Given the description of an element on the screen output the (x, y) to click on. 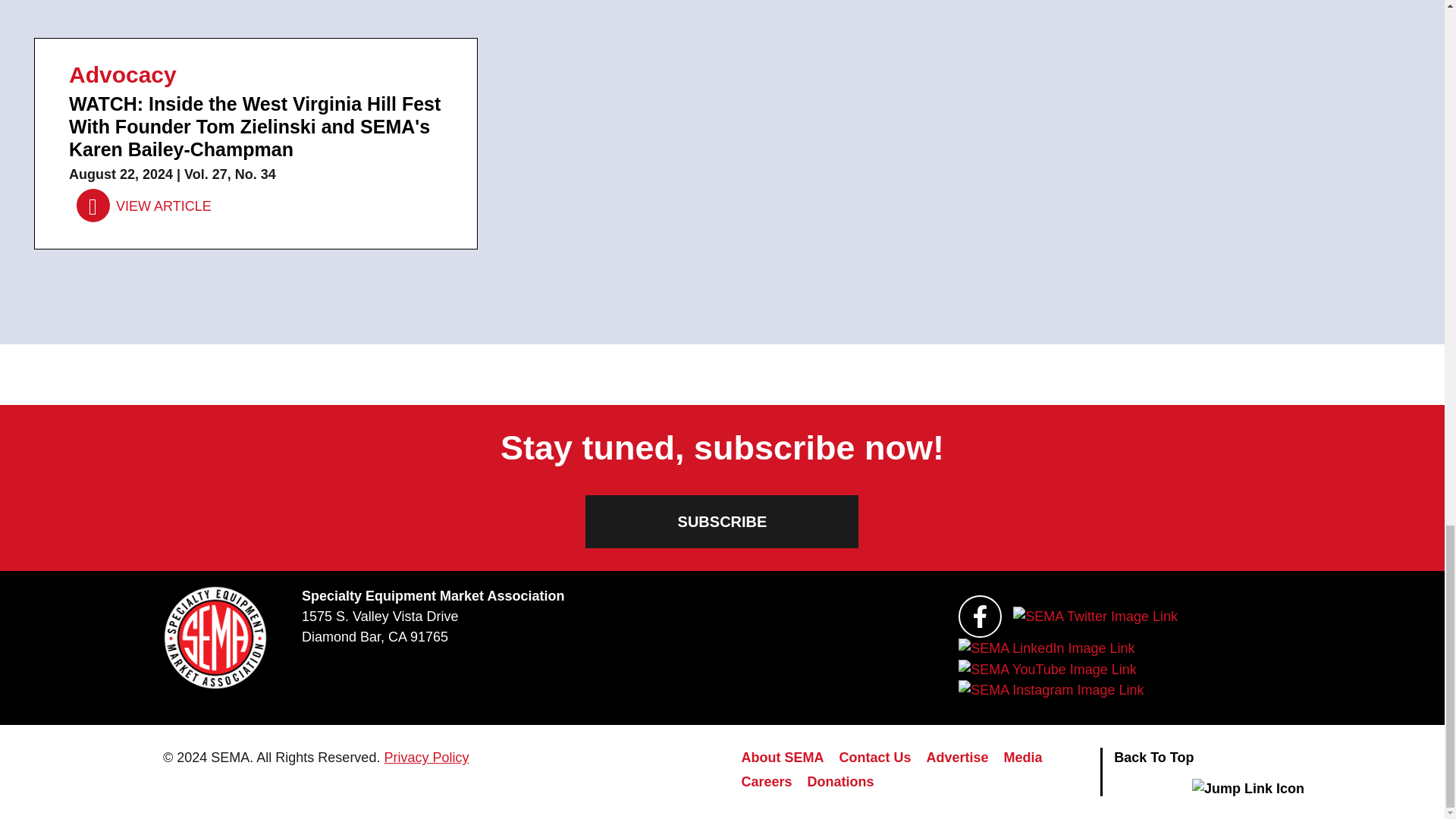
Privacy Policy (426, 757)
SEMA LinkedIn Link (1046, 648)
SEMA Facebook Link (979, 616)
SEMA Twitter Link (1095, 616)
SUBSCRIBE (722, 521)
SEMA YouTube Link (1046, 669)
SEMA Instagram Link (1050, 690)
VIEW ARTICLE (143, 205)
